Given the description of an element on the screen output the (x, y) to click on. 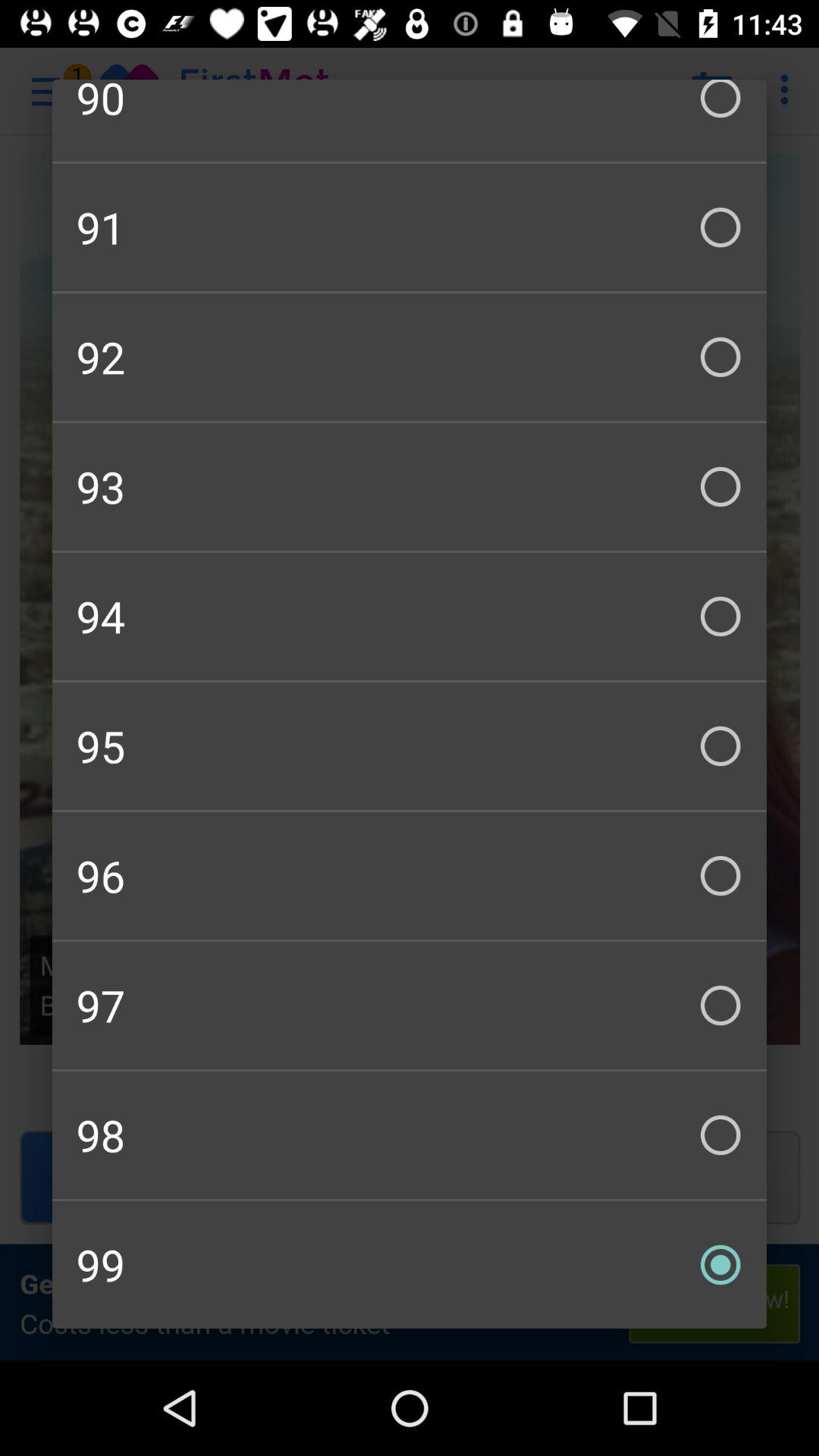
scroll to 96 icon (409, 875)
